Given the description of an element on the screen output the (x, y) to click on. 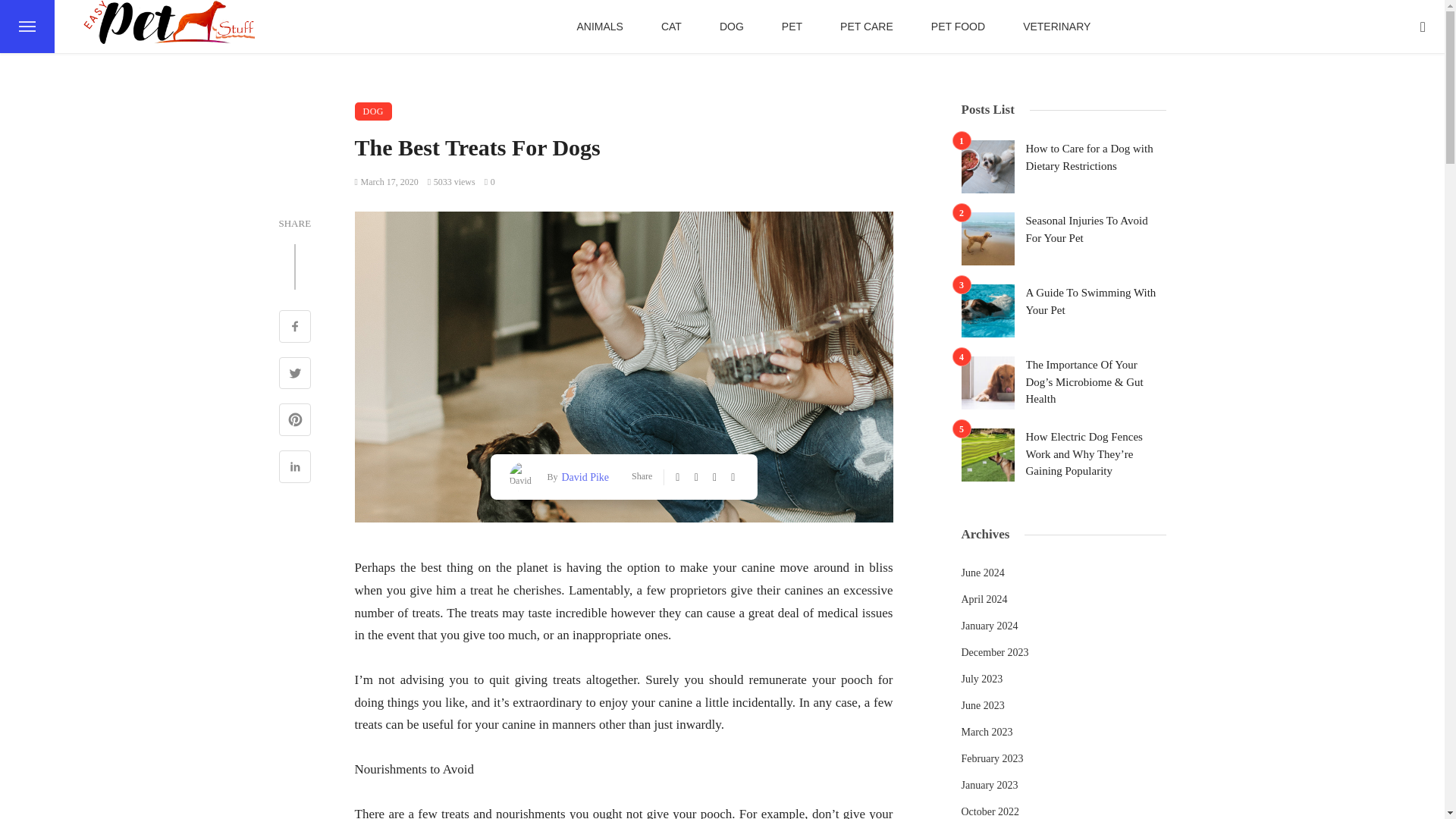
March 17, 2020 at 10:01 am (387, 181)
0 (489, 181)
ANIMALS (599, 26)
DOG (374, 111)
Posts by David Pike (582, 476)
Share on Linkedin (295, 468)
PET (791, 26)
CAT (671, 26)
PET CARE (866, 26)
Share on Facebook (295, 328)
